Given the description of an element on the screen output the (x, y) to click on. 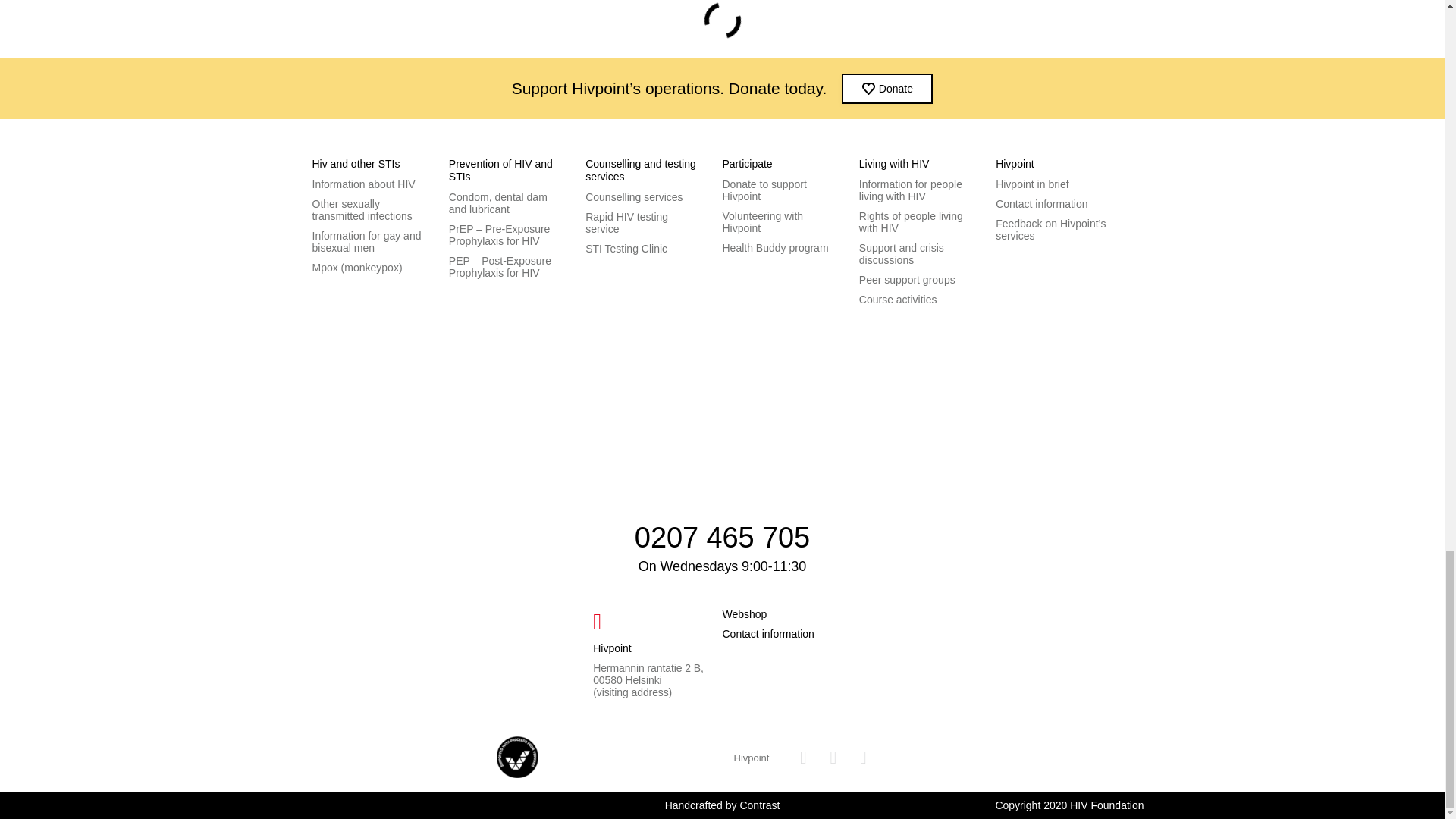
instagram (833, 757)
Webshop (744, 613)
facebook (802, 757)
twitter (863, 757)
Contact information (767, 633)
